Given the description of an element on the screen output the (x, y) to click on. 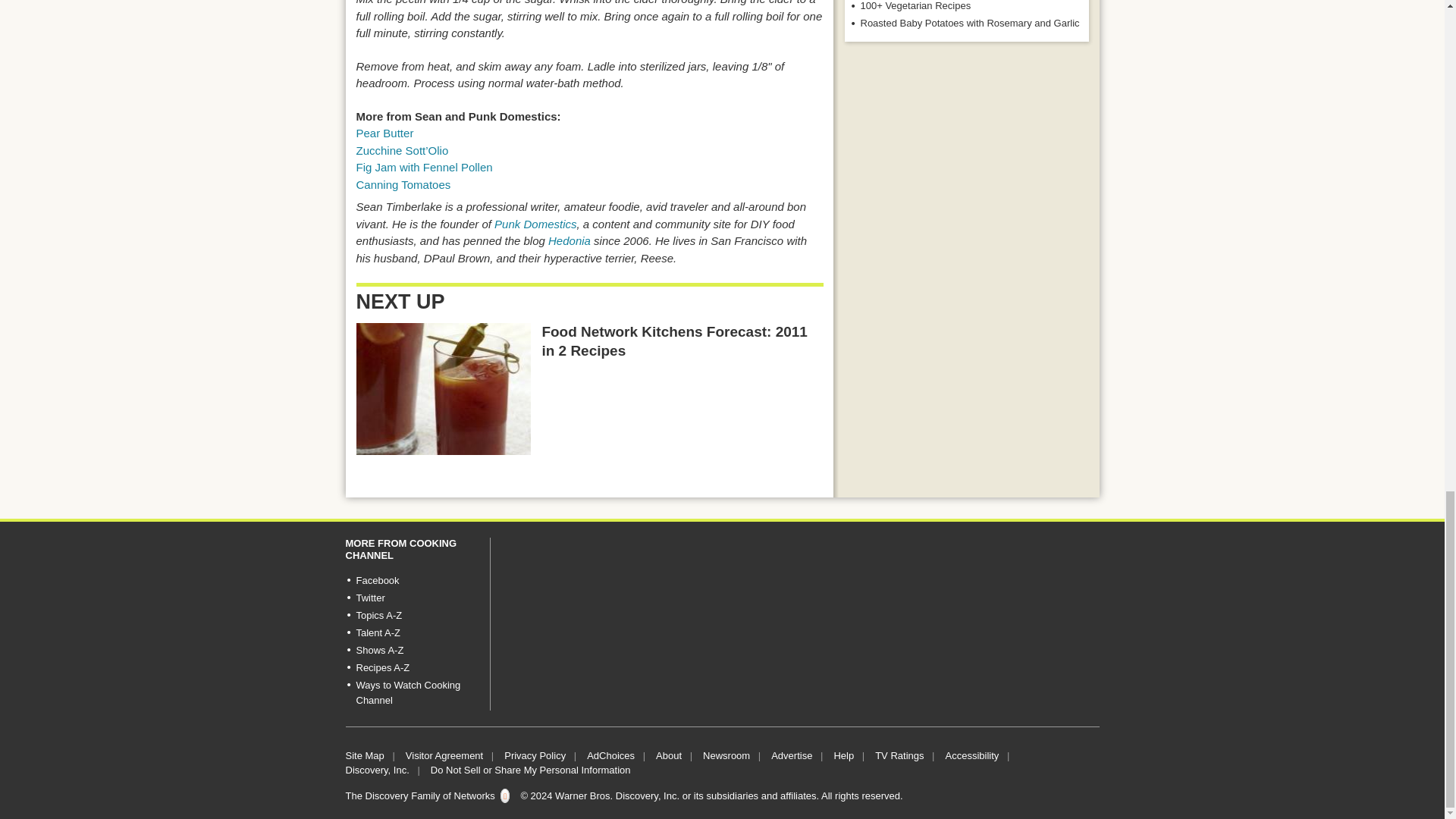
Hedonia (569, 240)
Food Network Kitchens Forecast: 2011 in 2 Recipes (443, 388)
Pear Butter (384, 132)
Canning Tomatoes (403, 184)
Fig Jam with Fennel Pollen (424, 166)
Punk Domestics (535, 223)
